Given the description of an element on the screen output the (x, y) to click on. 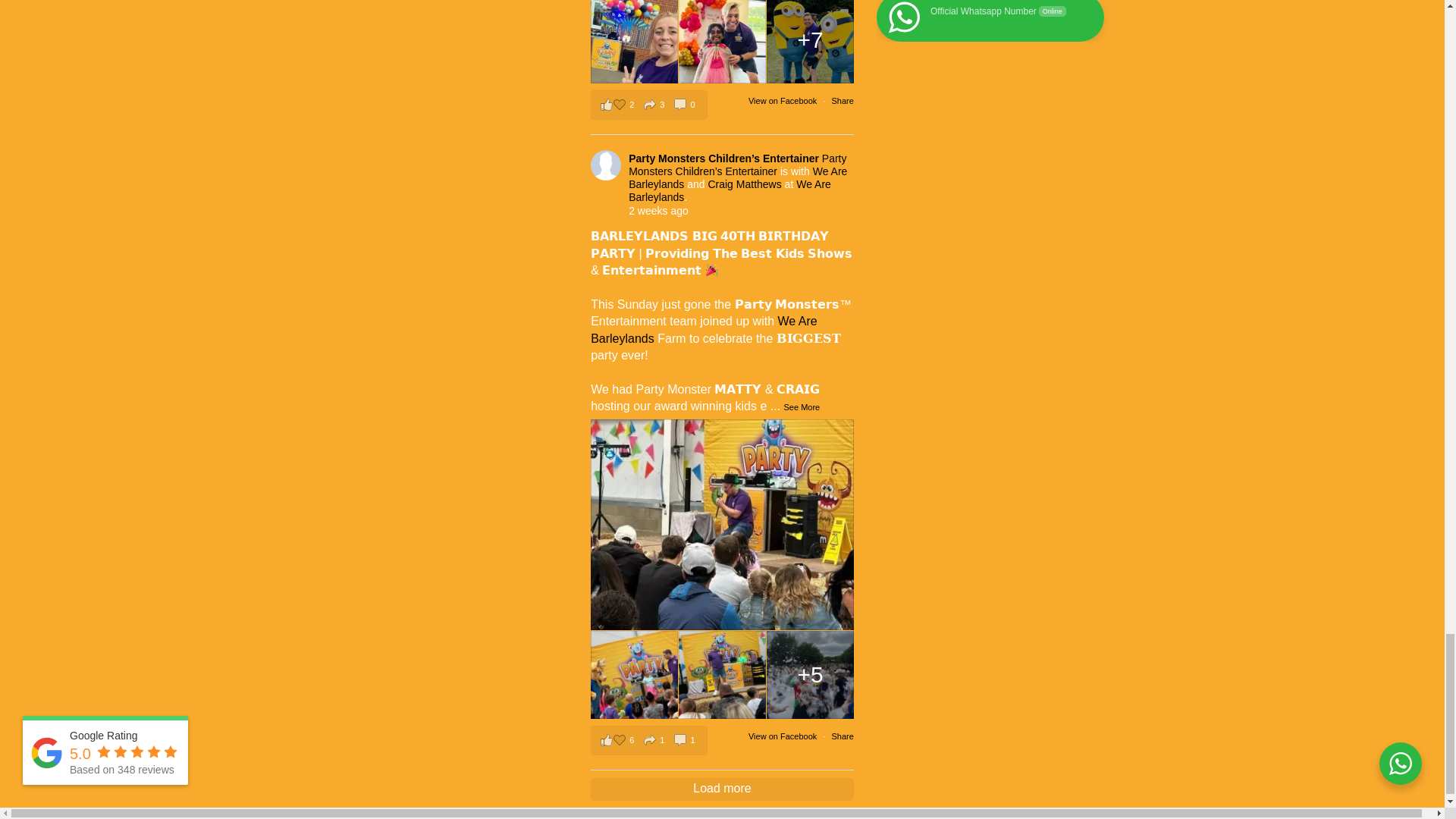
View on Facebook (783, 736)
Share (842, 100)
Share (842, 736)
View on Facebook (783, 100)
